Given the description of an element on the screen output the (x, y) to click on. 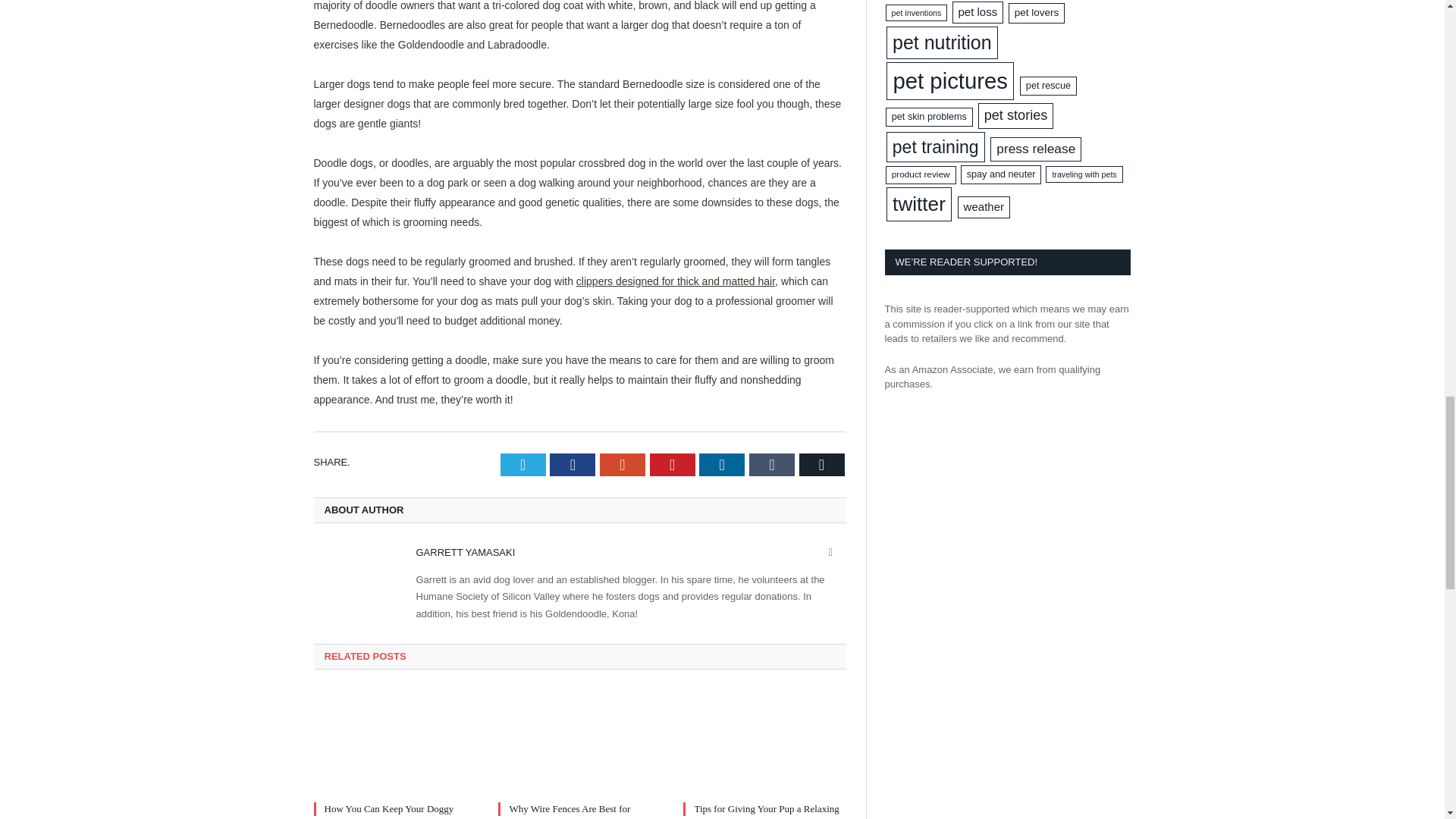
GARRETT YAMASAKI (464, 552)
Twitter (523, 464)
LinkedIn (721, 464)
Tumblr (771, 464)
Email (821, 464)
Facebook (572, 464)
Pinterest (672, 464)
